Given the description of an element on the screen output the (x, y) to click on. 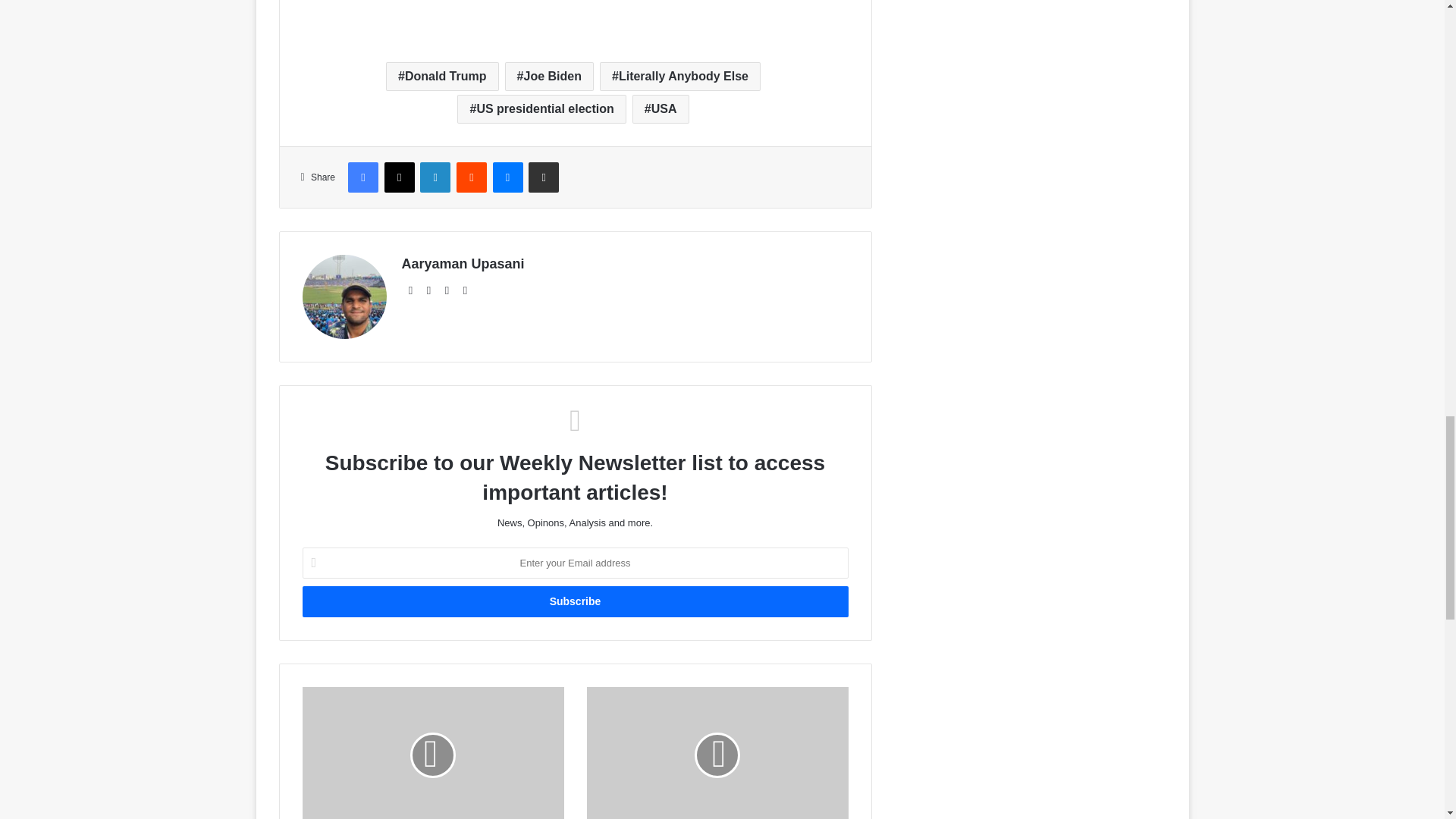
Subscribe (574, 601)
X (399, 177)
Facebook (362, 177)
LinkedIn (434, 177)
